Given the description of an element on the screen output the (x, y) to click on. 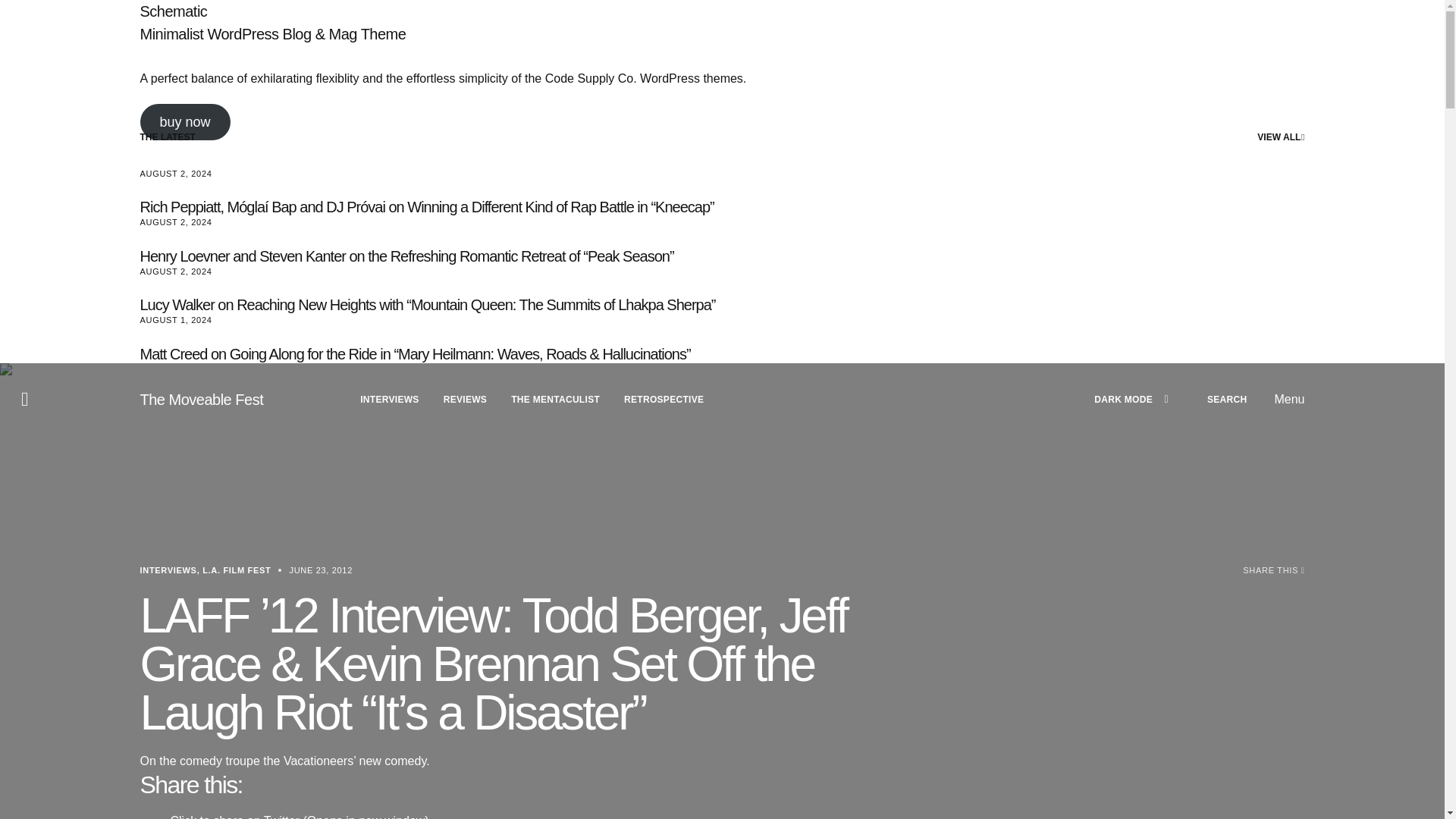
REVIEWS (465, 399)
INTERVIEWS (389, 399)
RETROSPECTIVE (663, 399)
Click to share on Twitter (299, 816)
THE MENTACULIST (555, 399)
VIEW ALL (1280, 137)
The Moveable Fest (201, 399)
buy now (184, 122)
